Given the description of an element on the screen output the (x, y) to click on. 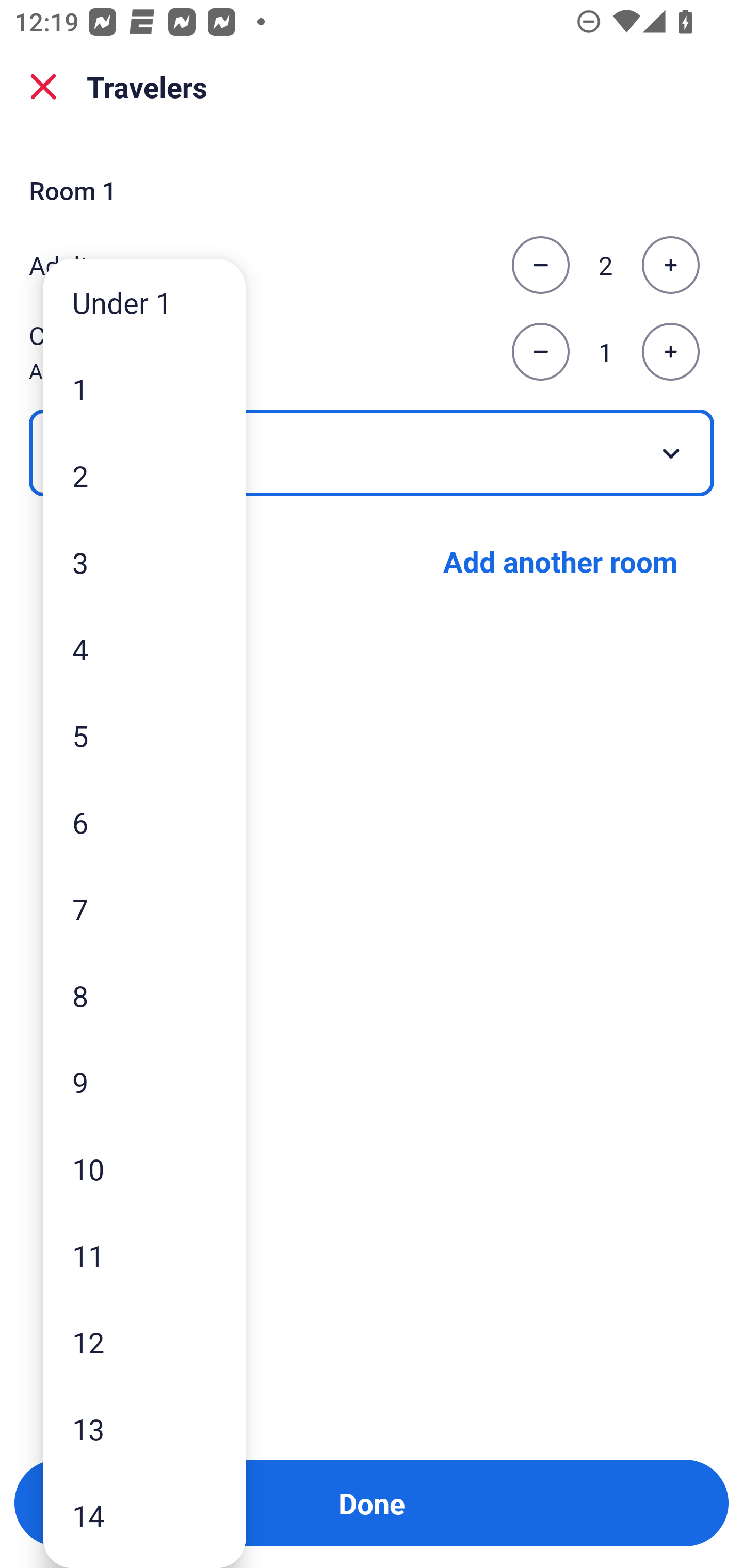
Under 1 (144, 301)
1 (144, 388)
2 (144, 475)
3 (144, 562)
4 (144, 648)
5 (144, 735)
6 (144, 822)
7 (144, 908)
8 (144, 994)
9 (144, 1081)
10 (144, 1168)
11 (144, 1255)
12 (144, 1342)
13 (144, 1429)
14 (144, 1515)
